Given the description of an element on the screen output the (x, y) to click on. 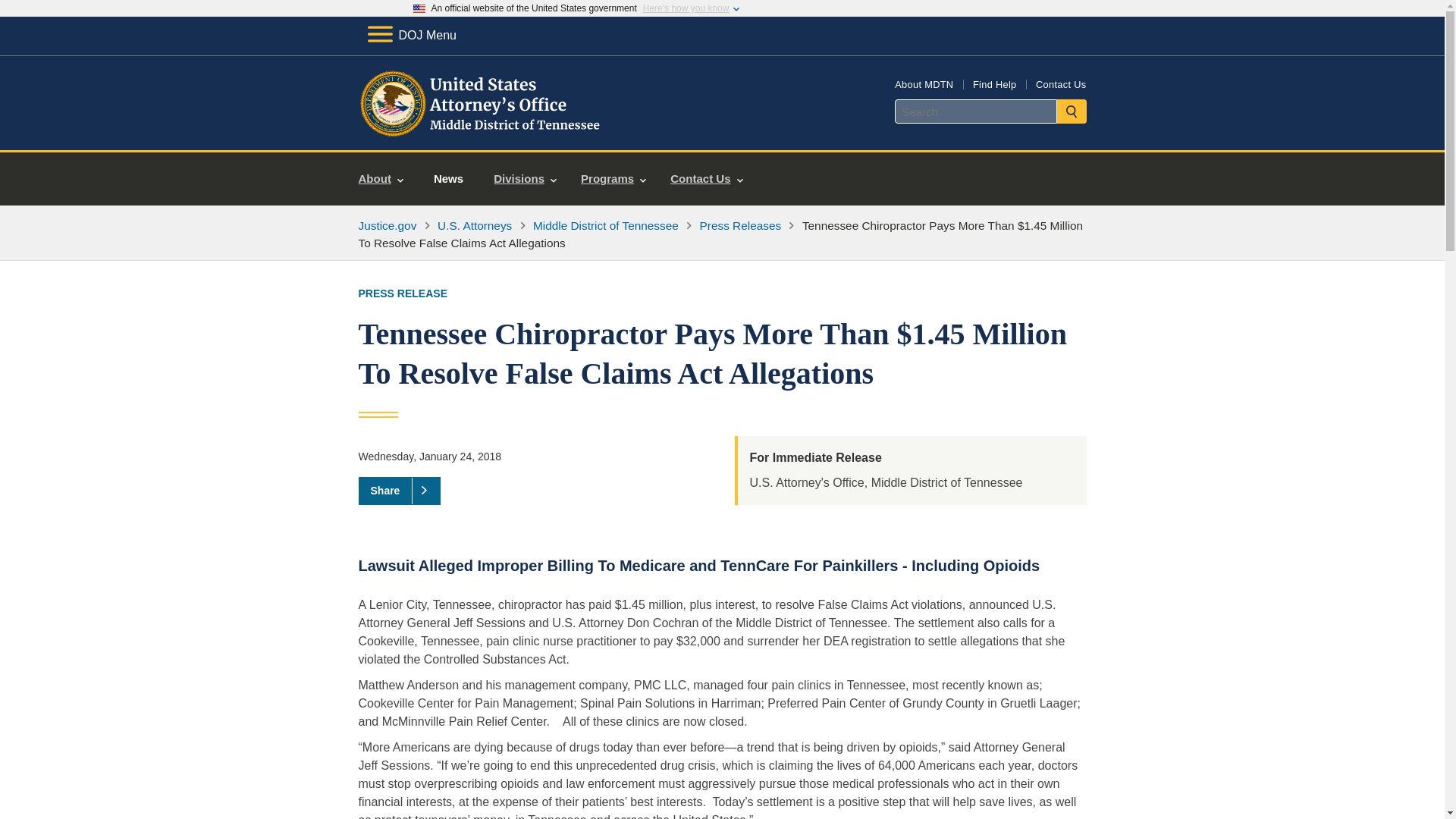
DOJ Menu (411, 35)
Contact Us (1060, 84)
U.S. Attorneys (475, 225)
About MDTN (924, 84)
Justice.gov (387, 225)
Press Releases (740, 225)
Divisions (525, 179)
About (380, 179)
Programs (613, 179)
Middle District of Tennessee (605, 225)
